Given the description of an element on the screen output the (x, y) to click on. 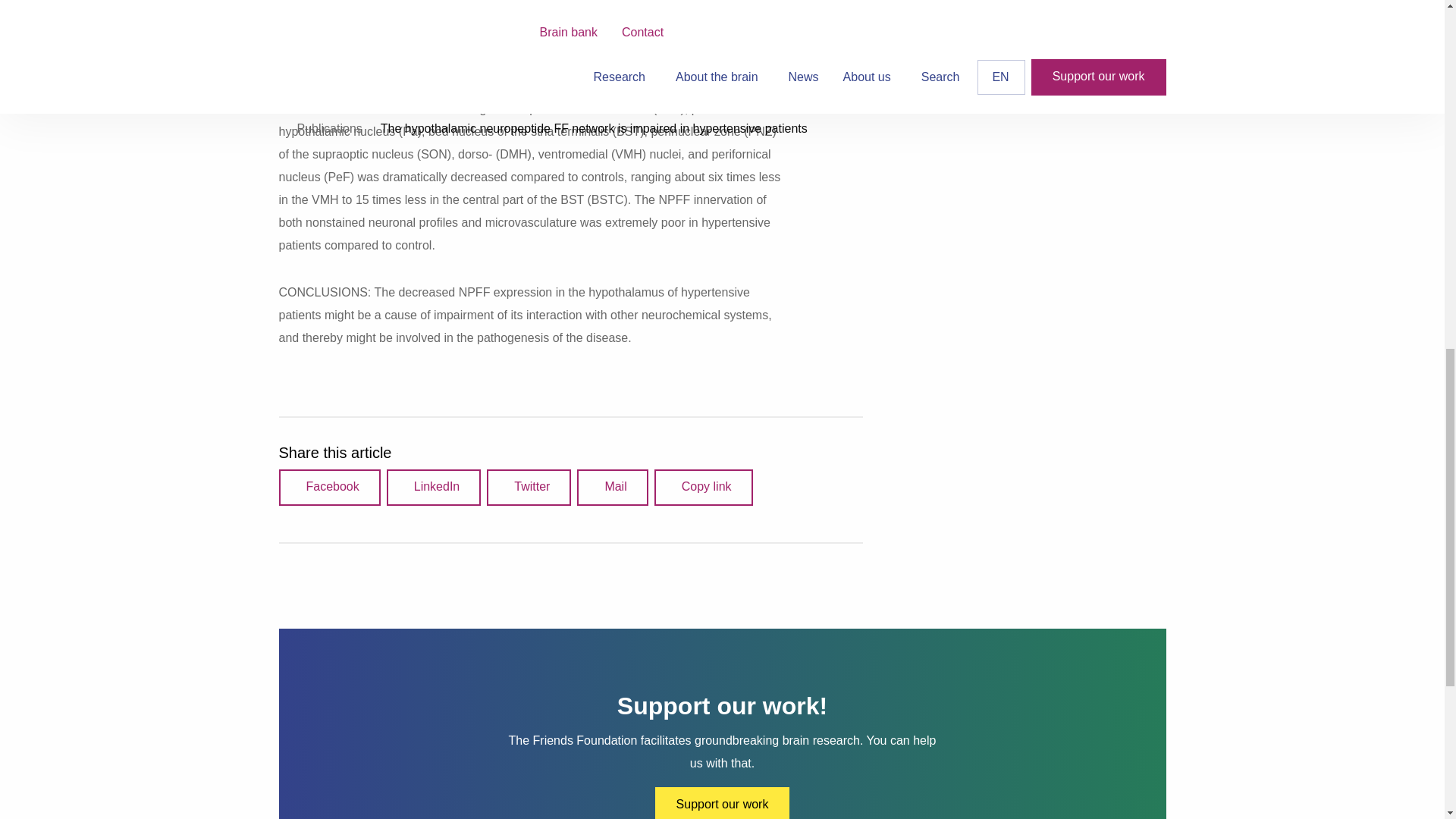
Share via mail (611, 487)
Share on Facebook (329, 487)
Tweet (528, 487)
Share link (702, 487)
Share on LinkedIn (434, 487)
